Given the description of an element on the screen output the (x, y) to click on. 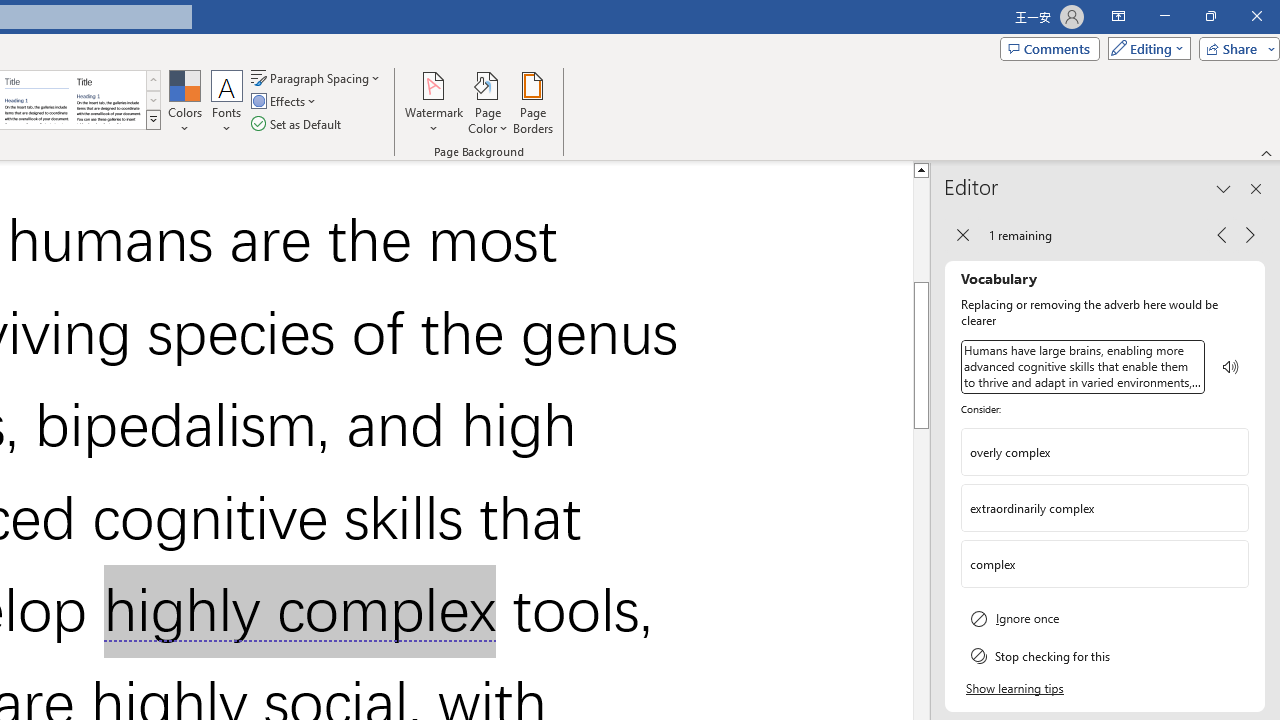
complex (1105, 564)
complex (1089, 563)
Close pane (1256, 188)
More options for extraordinarily complex (1232, 508)
Stop checking for this (1105, 655)
Collapse the Ribbon (1267, 152)
Task Pane Options (1224, 188)
extraordinarily complex (1105, 507)
Close (1256, 16)
More options for overly complex (1232, 452)
Page Borders... (532, 102)
Comments (1049, 48)
Ribbon Display Options (1118, 16)
Back (962, 234)
